Given the description of an element on the screen output the (x, y) to click on. 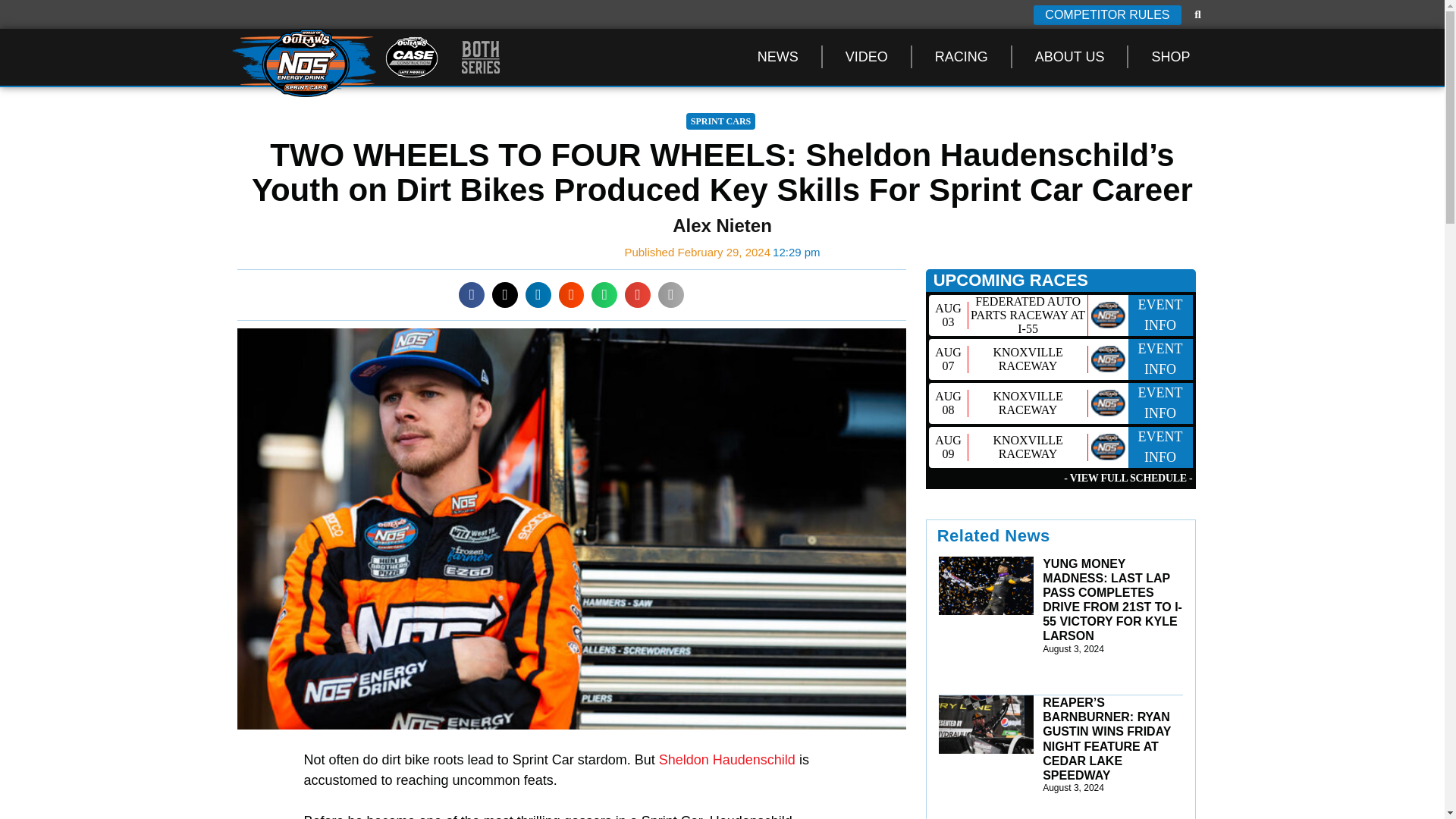
RACING (961, 56)
NEWS (777, 56)
VIDEO (865, 56)
ABOUT US (1069, 56)
COMPETITOR RULES (1106, 14)
SHOP (1170, 56)
